Given the description of an element on the screen output the (x, y) to click on. 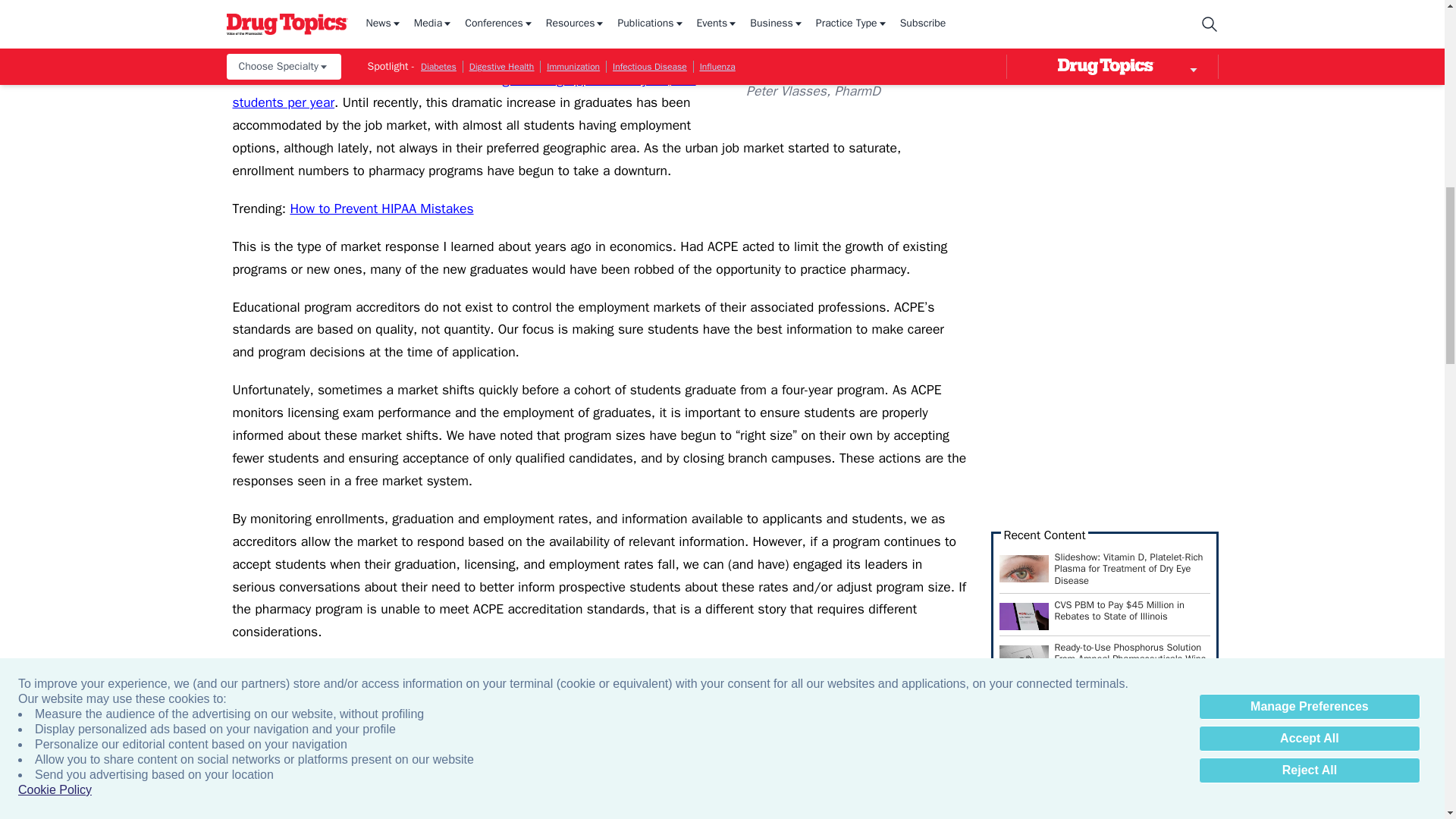
Peter Vlasses, PharmD (855, 37)
